Given the description of an element on the screen output the (x, y) to click on. 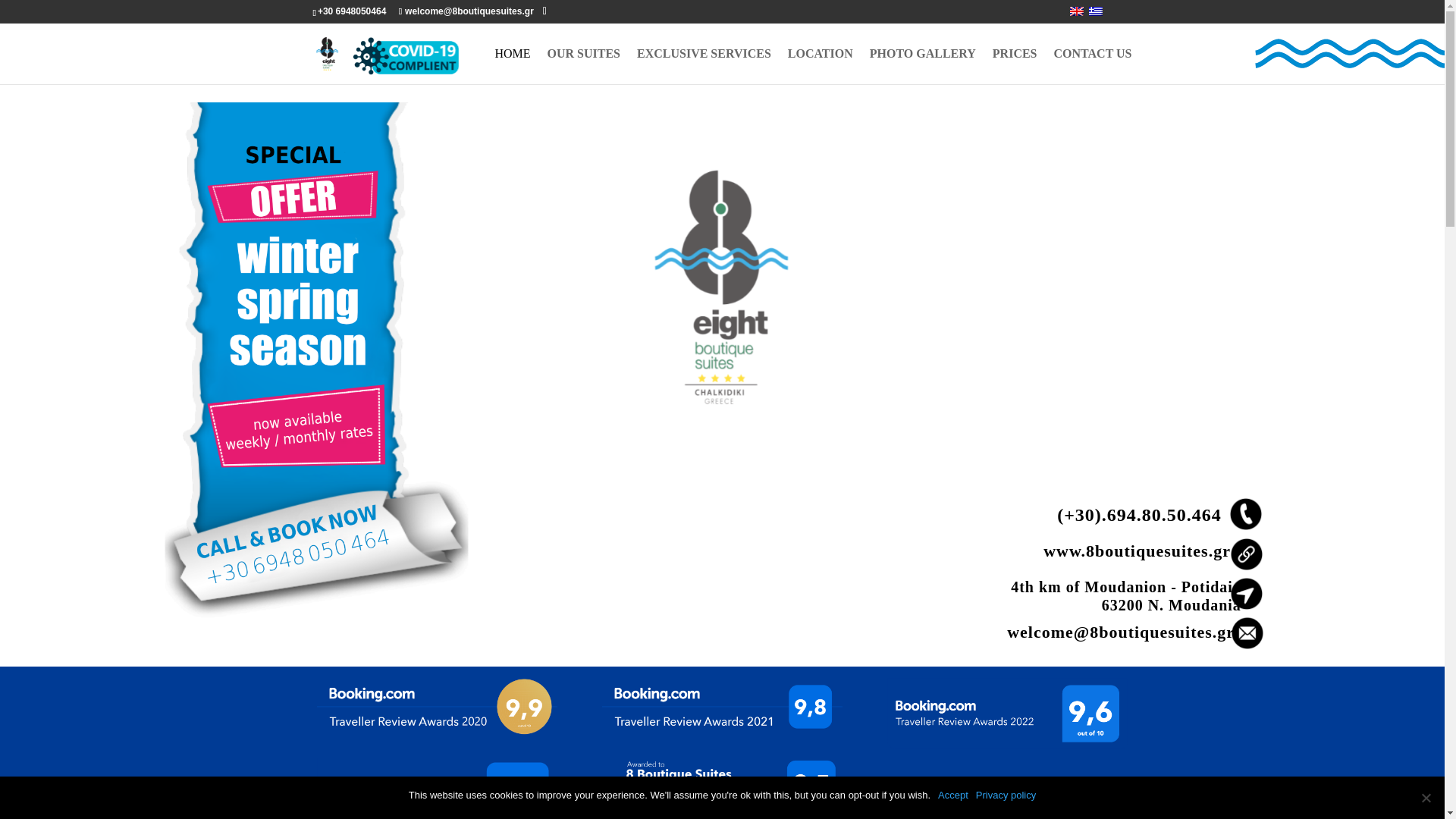
booking-travller-review-awards-2021 (722, 706)
EXCLUSIVE SERVICES (704, 66)
OUR SUITES (583, 66)
Accept (952, 795)
booking-travller-review-awards-2020 (437, 706)
PHOTO GALLERY (922, 66)
www.8boutiquesuites.gr (1136, 551)
No (1425, 797)
CONTACT US (1093, 66)
